Given the description of an element on the screen output the (x, y) to click on. 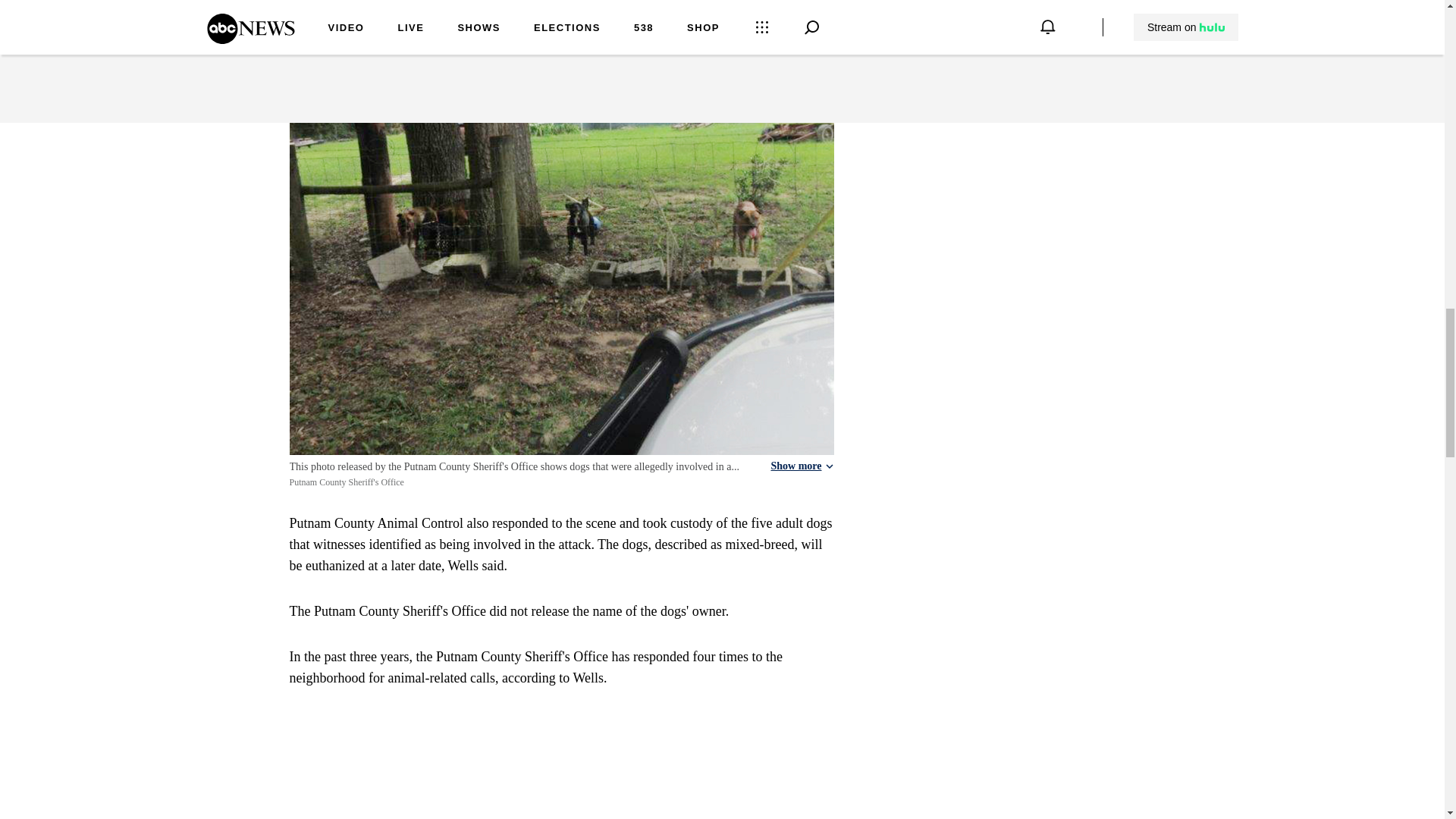
Show more (801, 466)
